Given the description of an element on the screen output the (x, y) to click on. 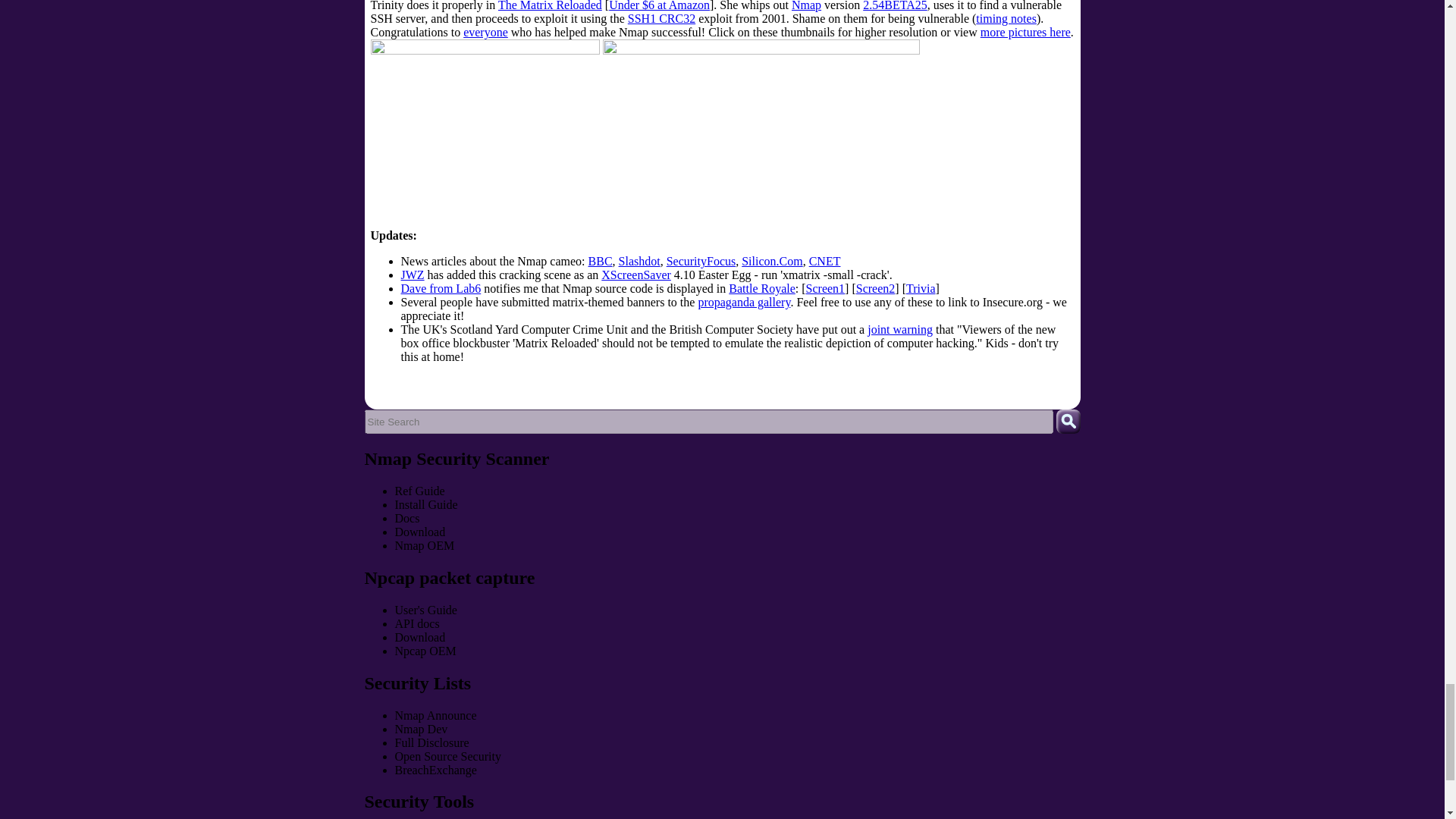
Search (1067, 421)
